Given the description of an element on the screen output the (x, y) to click on. 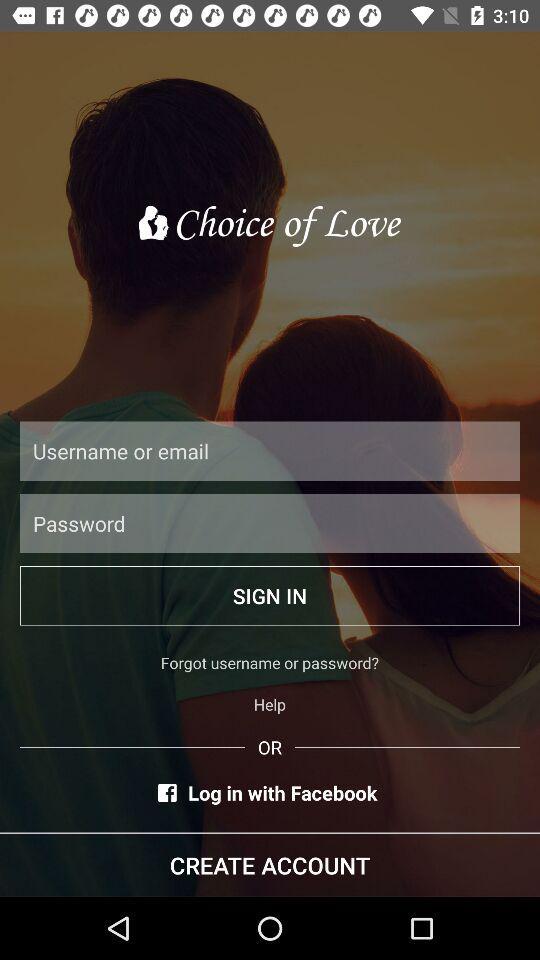
open the item below forgot username or icon (269, 703)
